Given the description of an element on the screen output the (x, y) to click on. 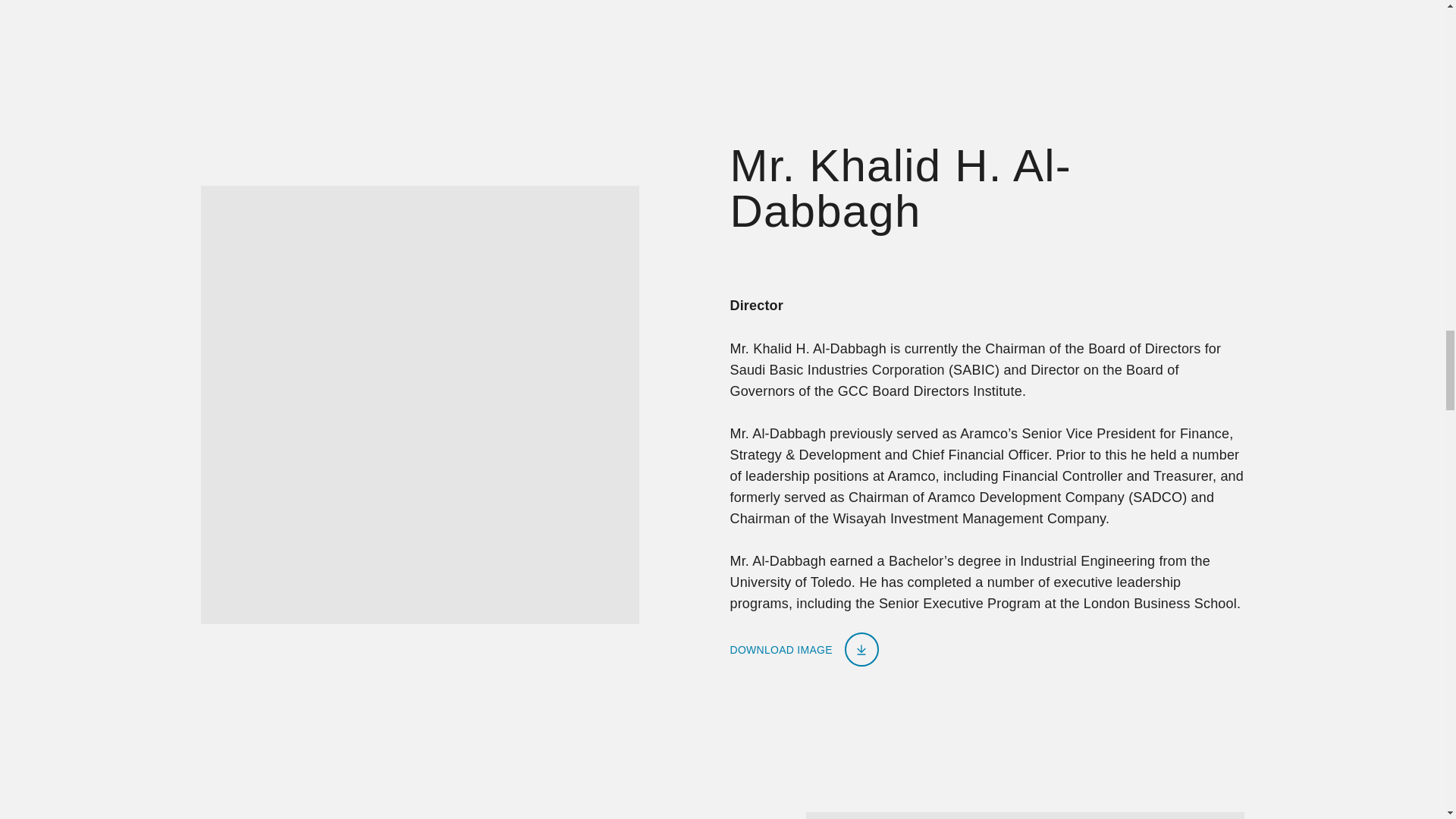
DOWNLOAD IMAGE (803, 649)
